Given the description of an element on the screen output the (x, y) to click on. 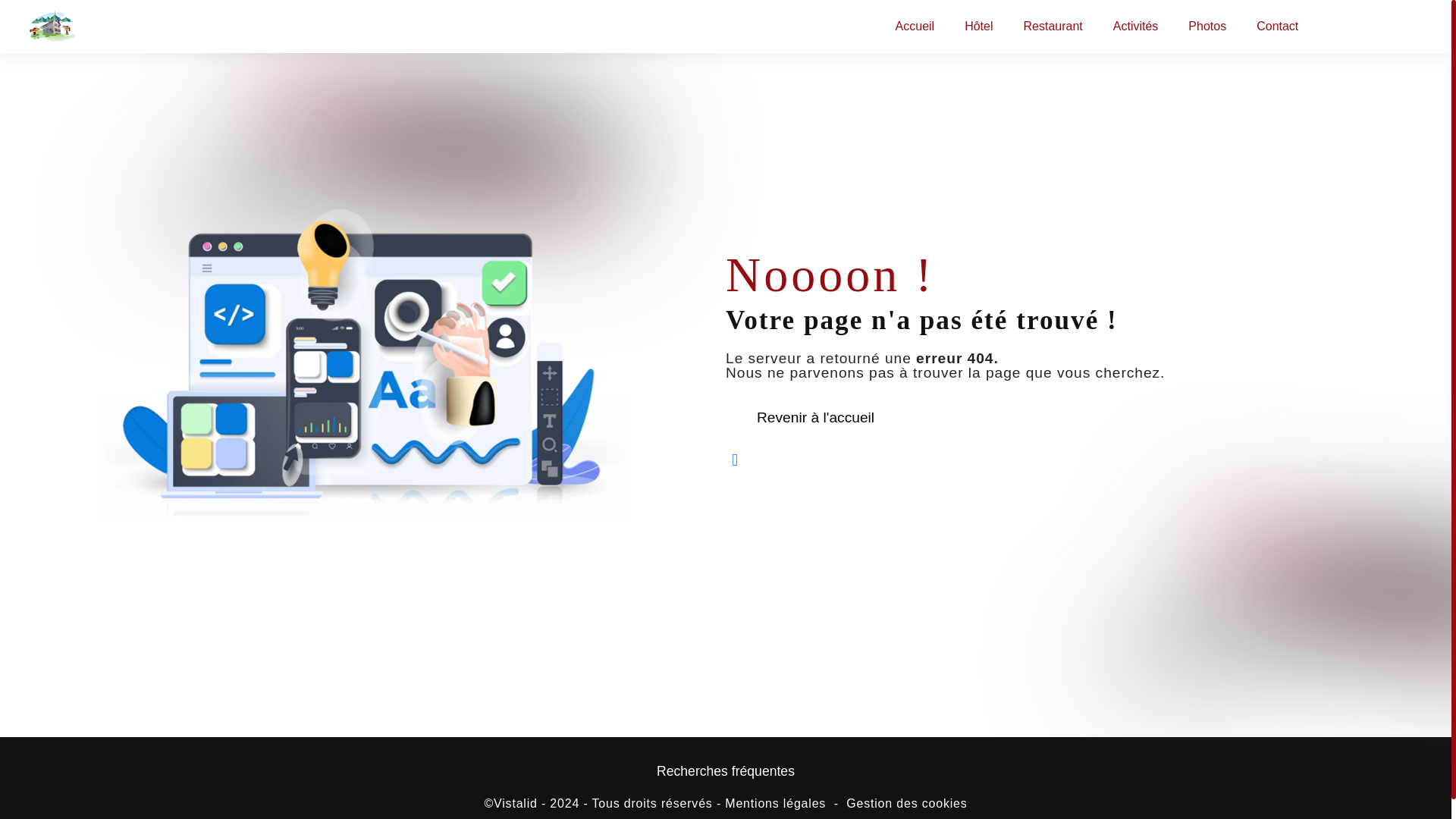
Restaurant (1053, 26)
Contact (1277, 26)
Accueil (915, 26)
Photos (1206, 26)
